Given the description of an element on the screen output the (x, y) to click on. 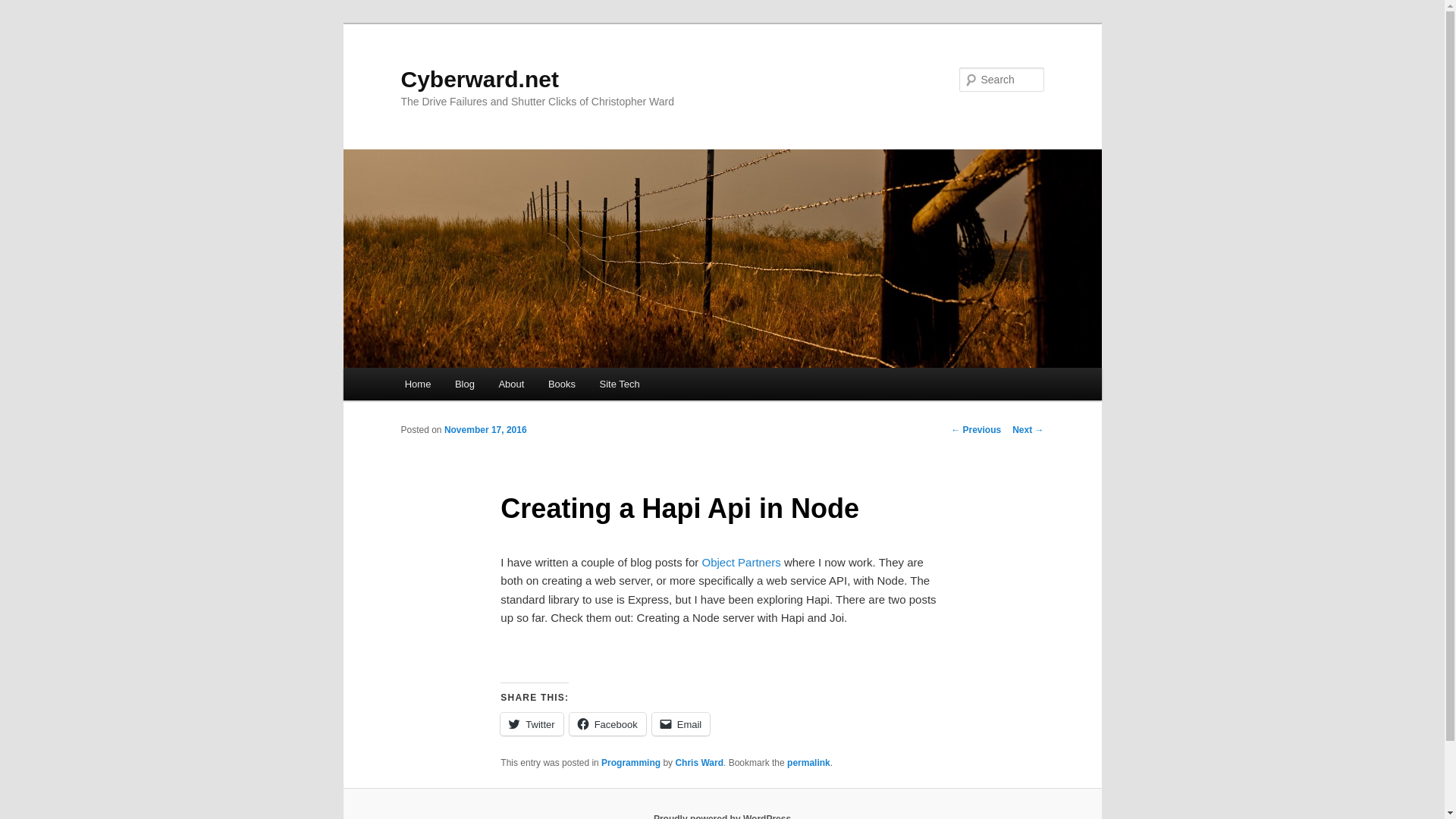
Click to share on Facebook (607, 723)
Cyberward.net (478, 78)
About (510, 383)
Email (681, 723)
Site Tech (620, 383)
6:26 pm (485, 429)
Click to share on Twitter (531, 723)
Home (417, 383)
Chris Ward (699, 762)
Proudly powered by WordPress (721, 816)
November 17, 2016 (485, 429)
Facebook (607, 723)
Twitter (531, 723)
Books (561, 383)
